Given the description of an element on the screen output the (x, y) to click on. 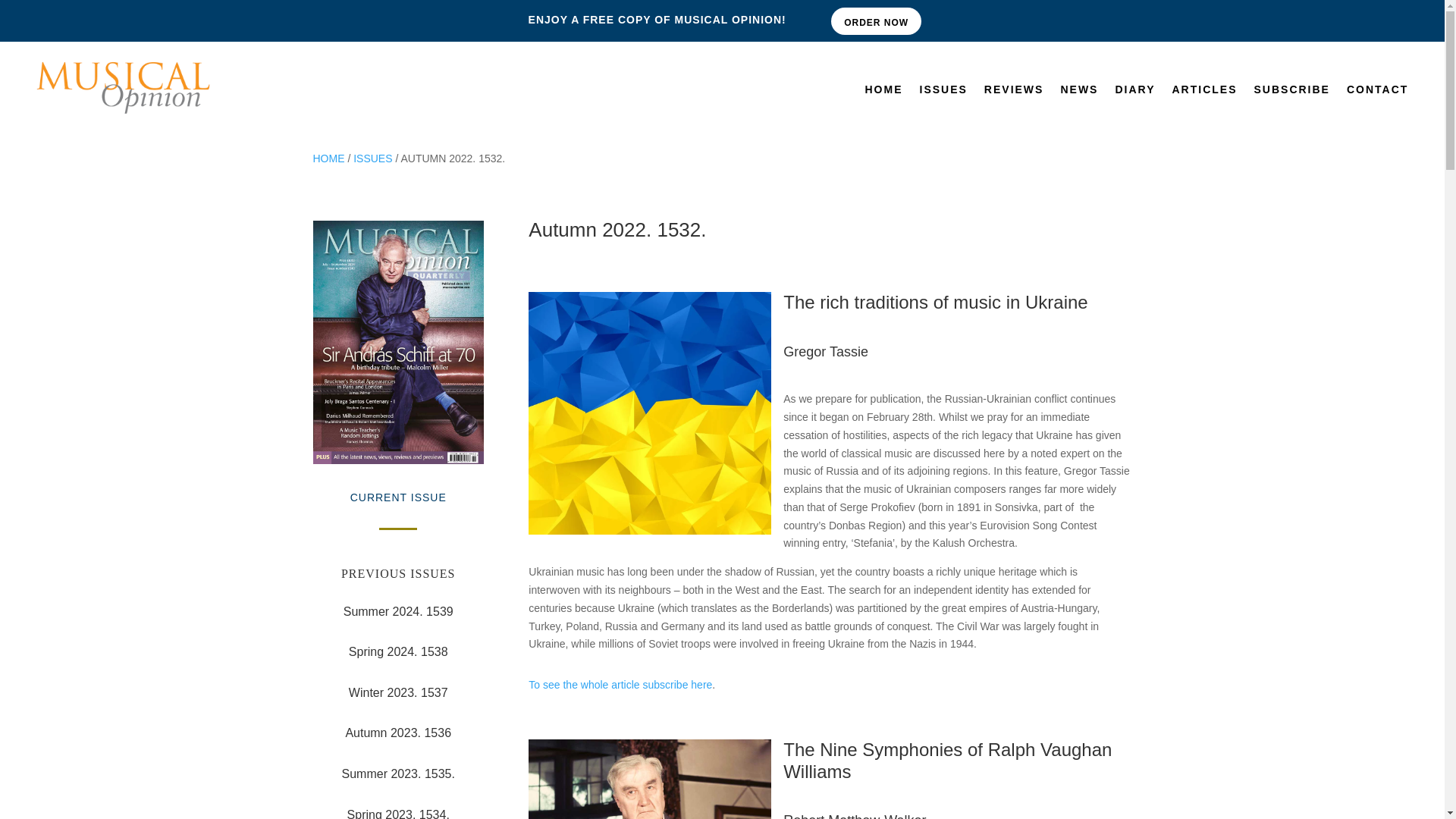
Spring 2023. 1534. (398, 813)
HOME (328, 158)
Summer 2024. 1539 (397, 611)
Spring 2024. 1538 (398, 651)
Summer 2023. 1535. (397, 773)
CONTACT (1376, 92)
ISSUES (942, 92)
DIARY (1134, 92)
SUBSCRIBE (1291, 92)
NEWS (1078, 92)
